Given the description of an element on the screen output the (x, y) to click on. 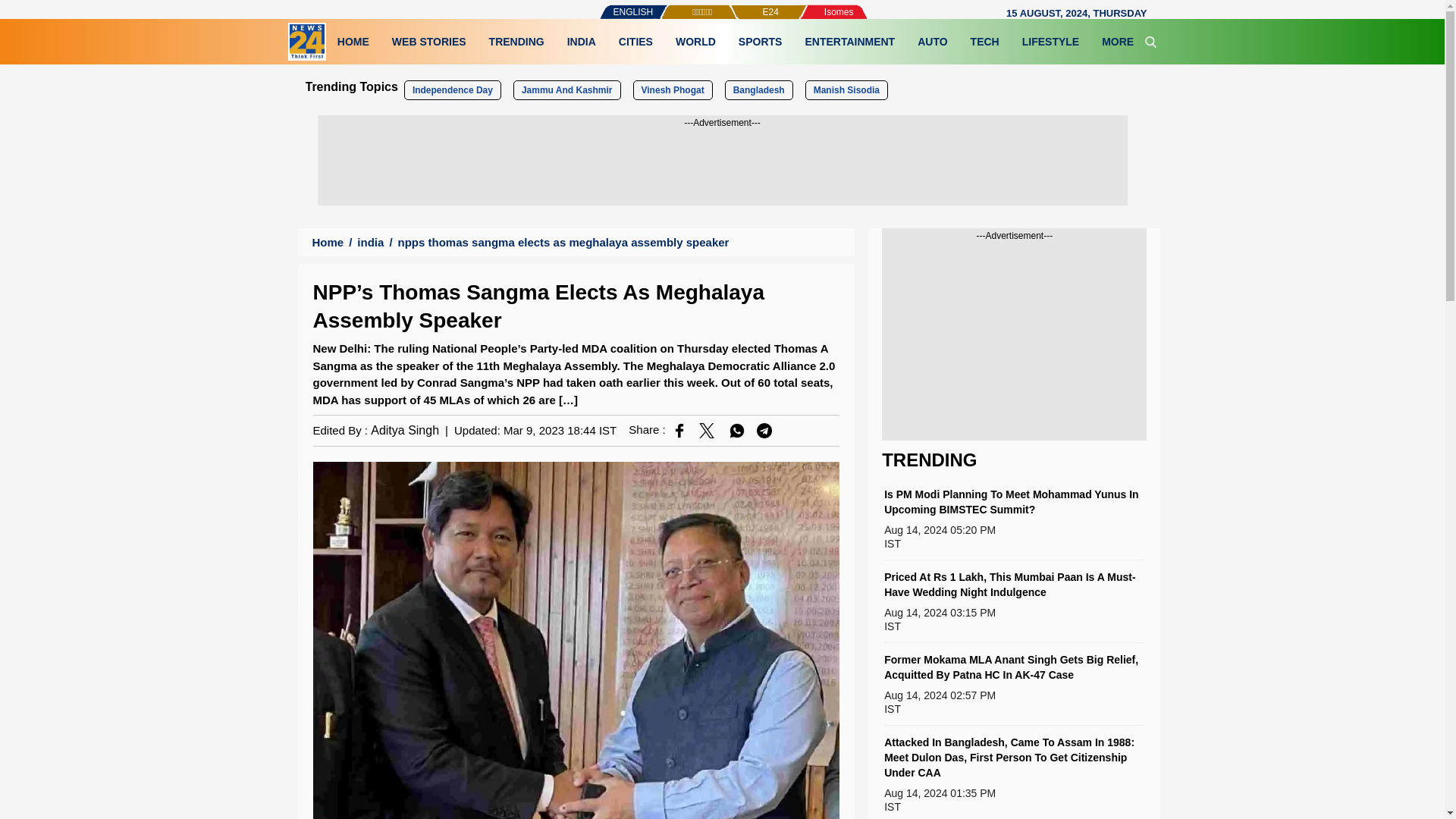
ENTERTAINMENT (849, 41)
INDIA (581, 41)
TECH (984, 41)
SPORTS (759, 41)
E24 (744, 4)
TRENDING (516, 41)
WEB STORIES (428, 41)
AUTO (931, 41)
HOME (353, 41)
